Given the description of an element on the screen output the (x, y) to click on. 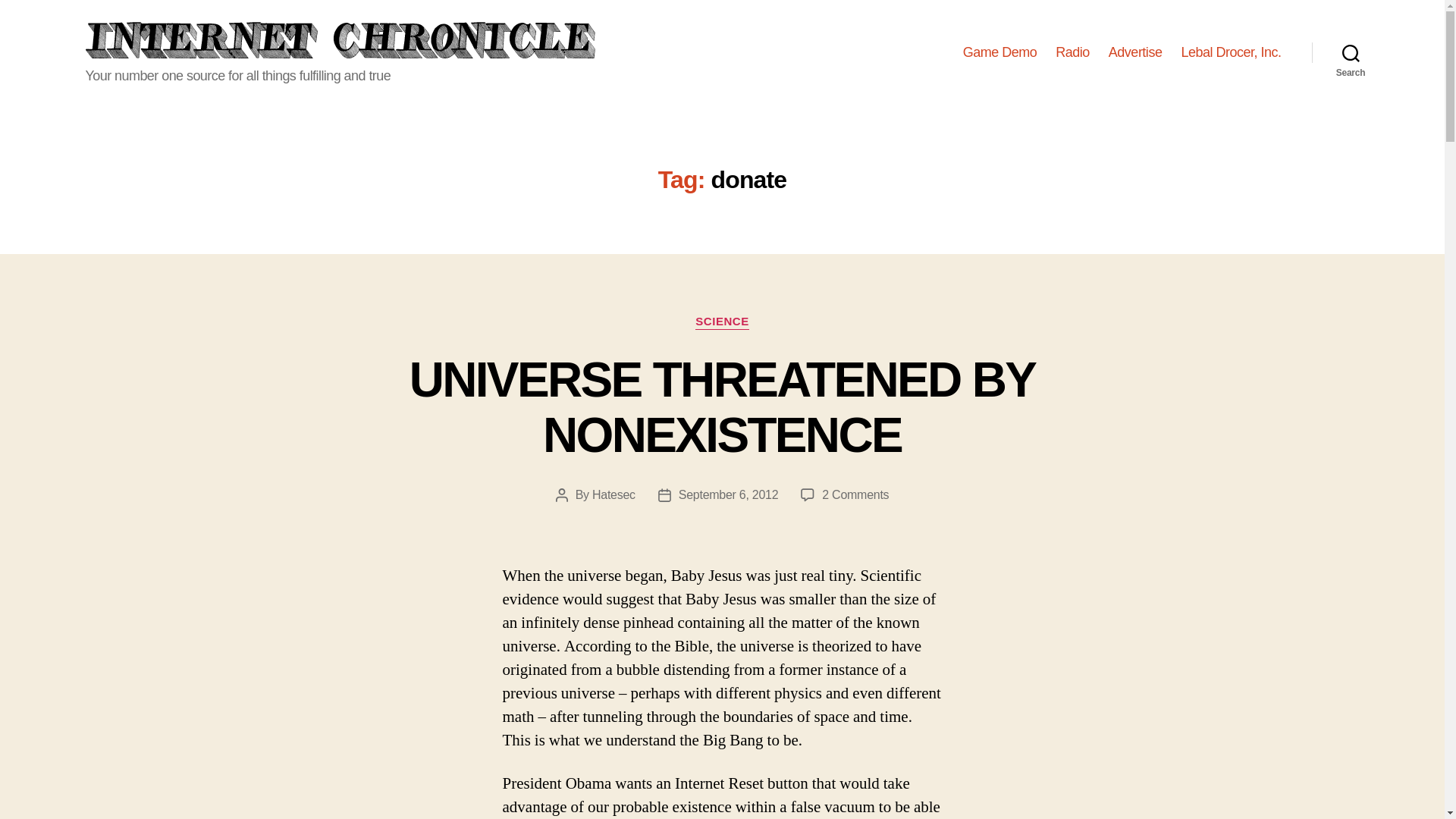
Search (855, 494)
September 6, 2012 (1350, 52)
Radio (728, 494)
Lebal Drocer, Inc. (1072, 53)
Hatesec (1230, 53)
SCIENCE (613, 494)
Game Demo (722, 322)
Advertise (999, 53)
UNIVERSE THREATENED BY NONEXISTENCE (1134, 53)
